Given the description of an element on the screen output the (x, y) to click on. 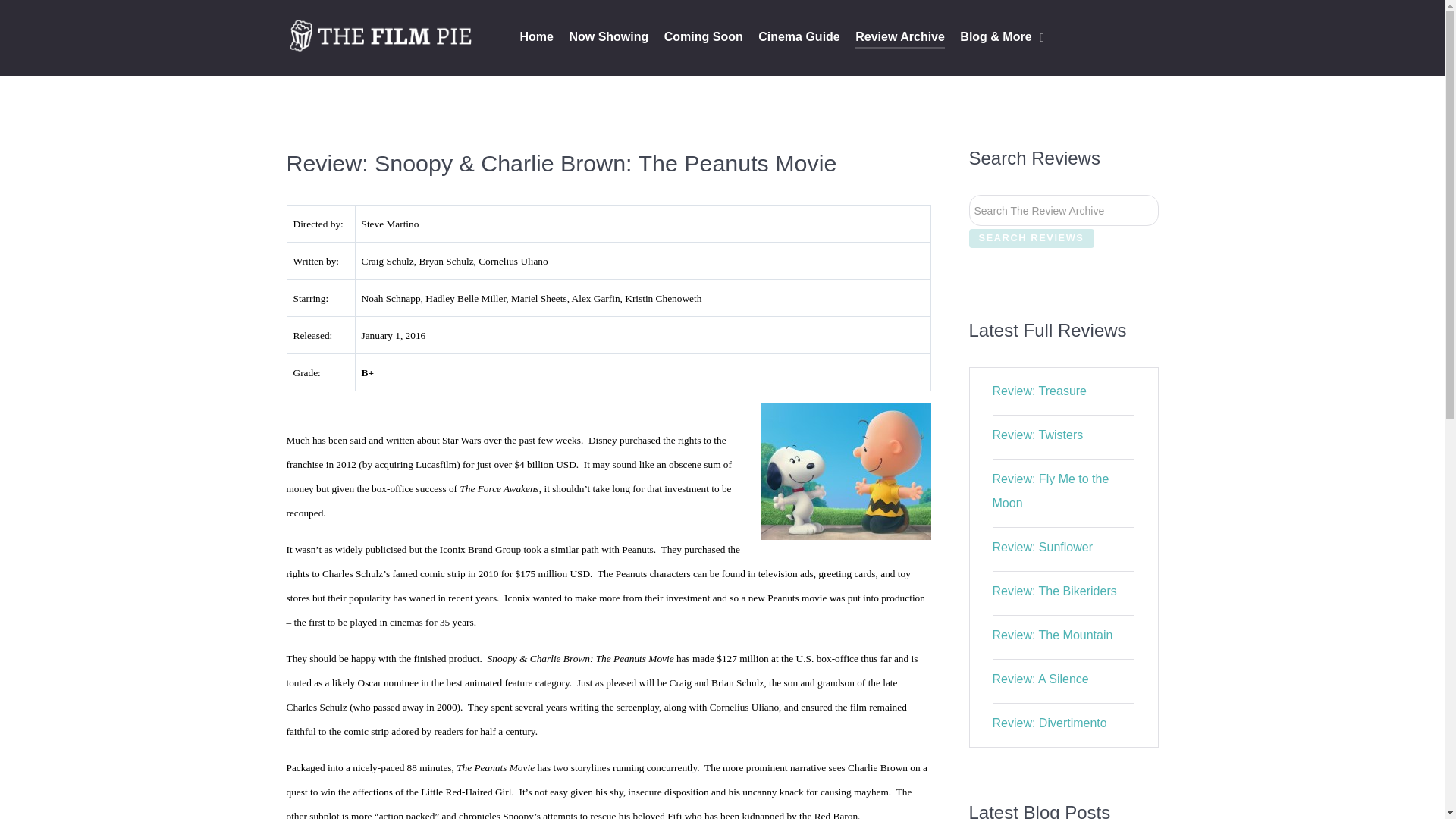
Cinema Guide (799, 38)
Review: The Bikeriders (1054, 590)
Review: A Silence (1040, 678)
Review: Fly Me to the Moon (1050, 490)
Review Archive (900, 38)
Now Showing (608, 38)
Coming Soon (702, 38)
Review: Treasure (1039, 390)
Review: Twisters (1037, 434)
Home (536, 38)
Review: Divertimento (1049, 722)
SEARCH REVIEWS (1031, 238)
Review: Sunflower (1042, 546)
Review: The Mountain (1052, 634)
